Given the description of an element on the screen output the (x, y) to click on. 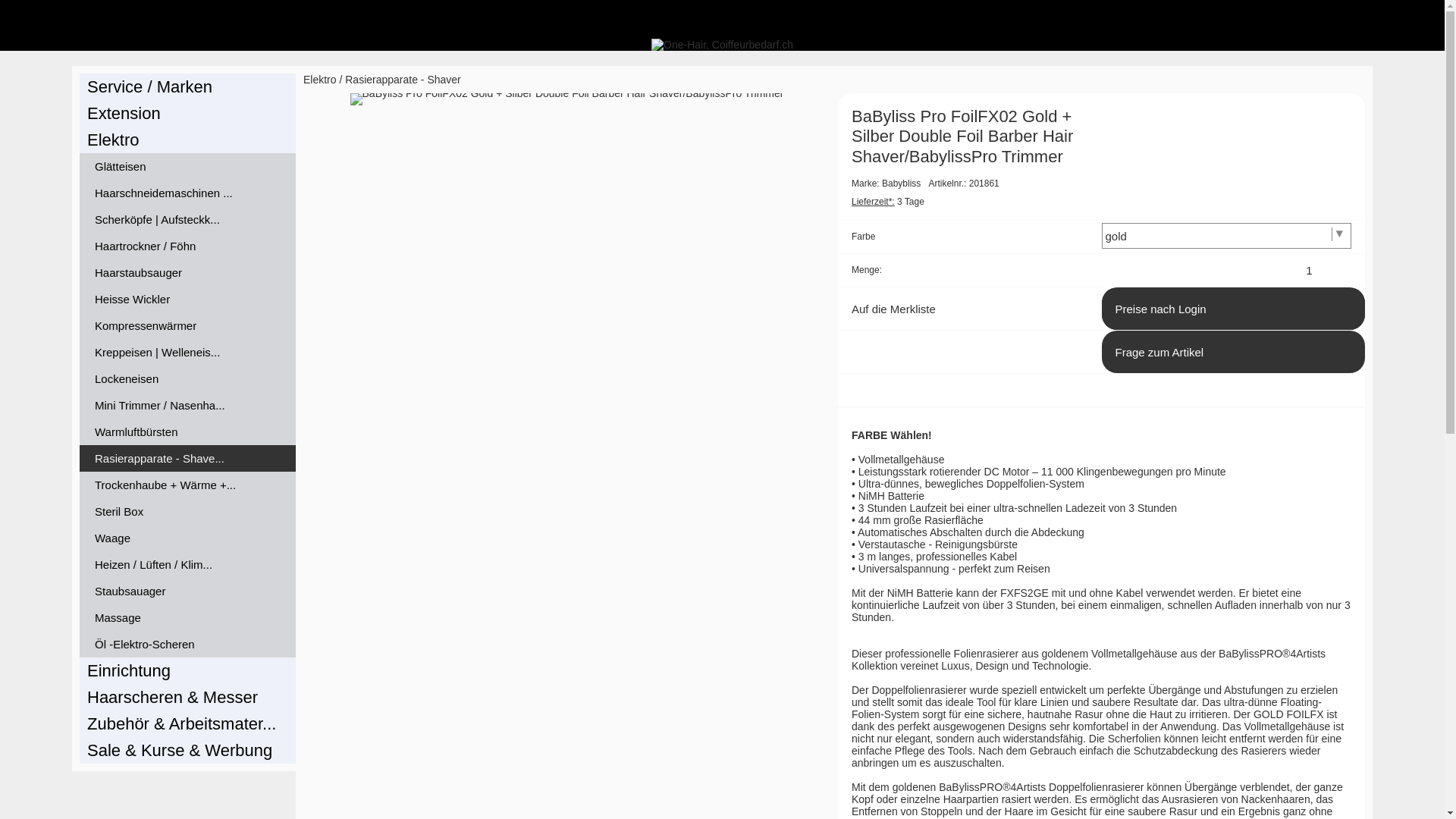
Elektro Element type: text (319, 79)
Preise nach Login Element type: text (1233, 308)
Lieferzeit*: 3 Tage Element type: text (887, 201)
One-Hair, Coiffeurbedarf.ch Element type: hover (722, 44)
One-Hair, Coiffeurbedarf.ch Element type: hover (722, 44)
Rasierapparate - Shaver Element type: text (403, 79)
